Given the description of an element on the screen output the (x, y) to click on. 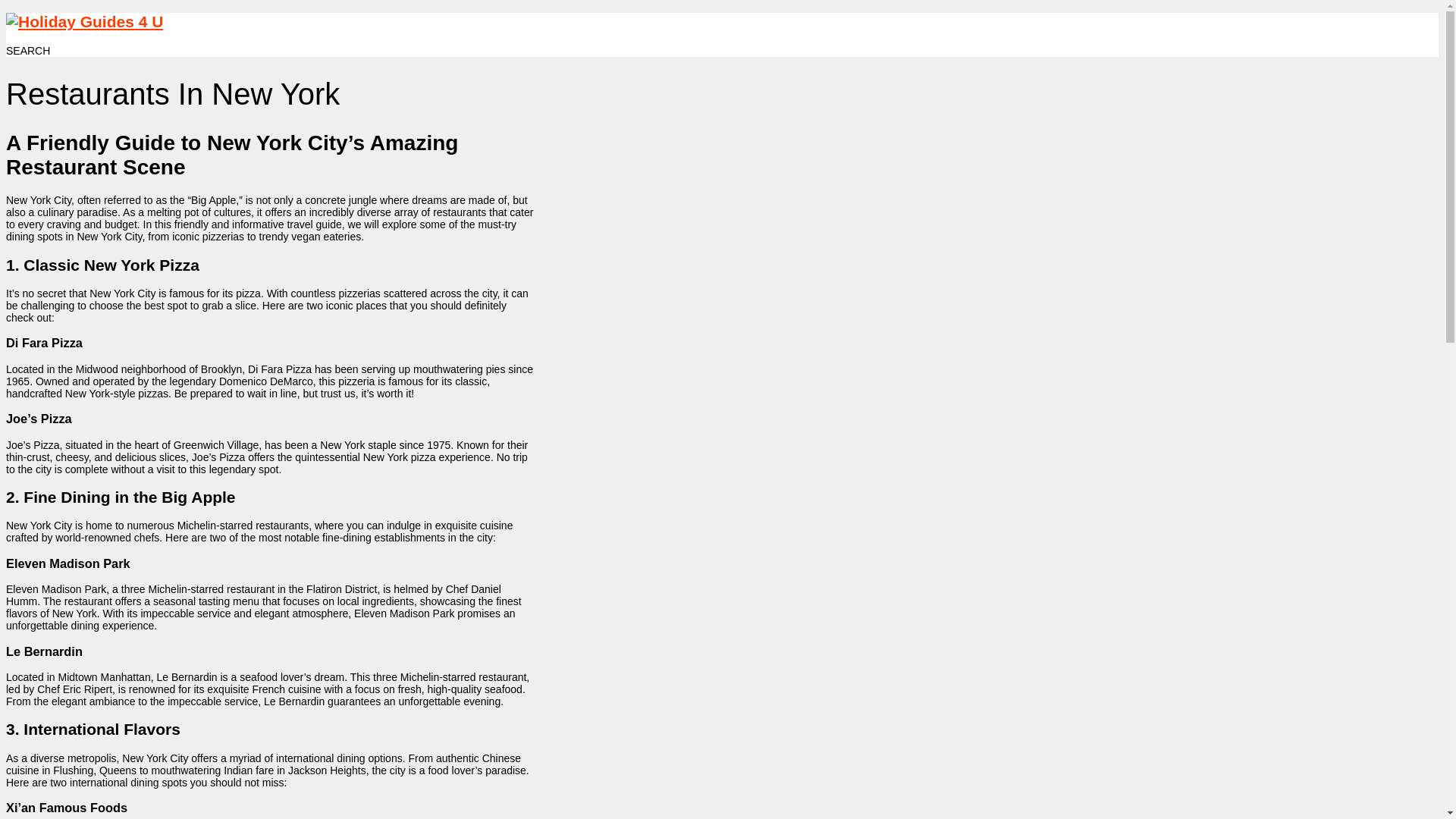
SEARCH (27, 50)
Holiday Guides 4 U (84, 21)
